Given the description of an element on the screen output the (x, y) to click on. 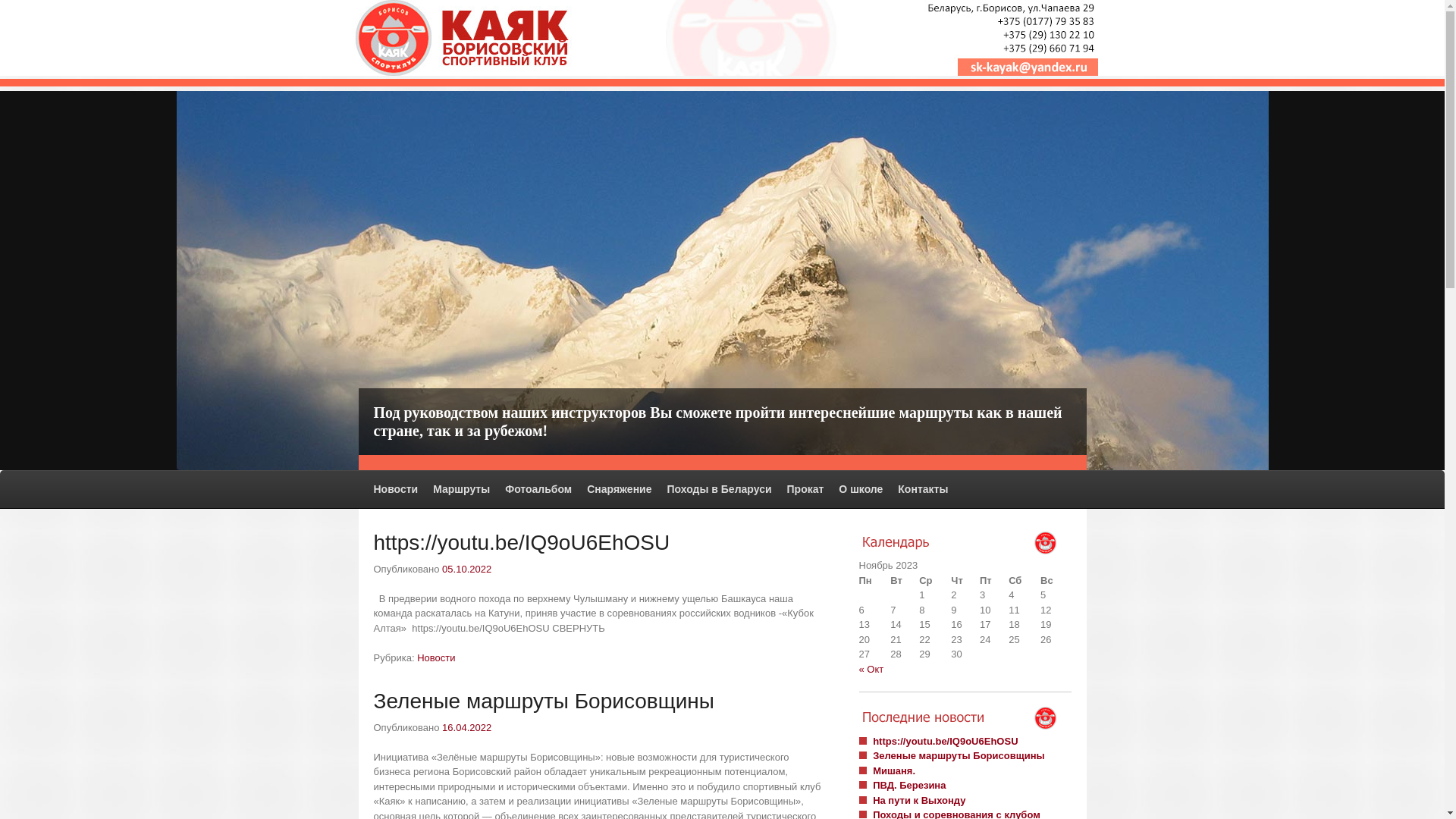
05.10.2022 Element type: text (466, 568)
https://youtu.be/IQ9oU6EhOSU Element type: text (944, 740)
16.04.2022 Element type: text (466, 727)
https://youtu.be/IQ9oU6EhOSU Element type: text (521, 542)
